Given the description of an element on the screen output the (x, y) to click on. 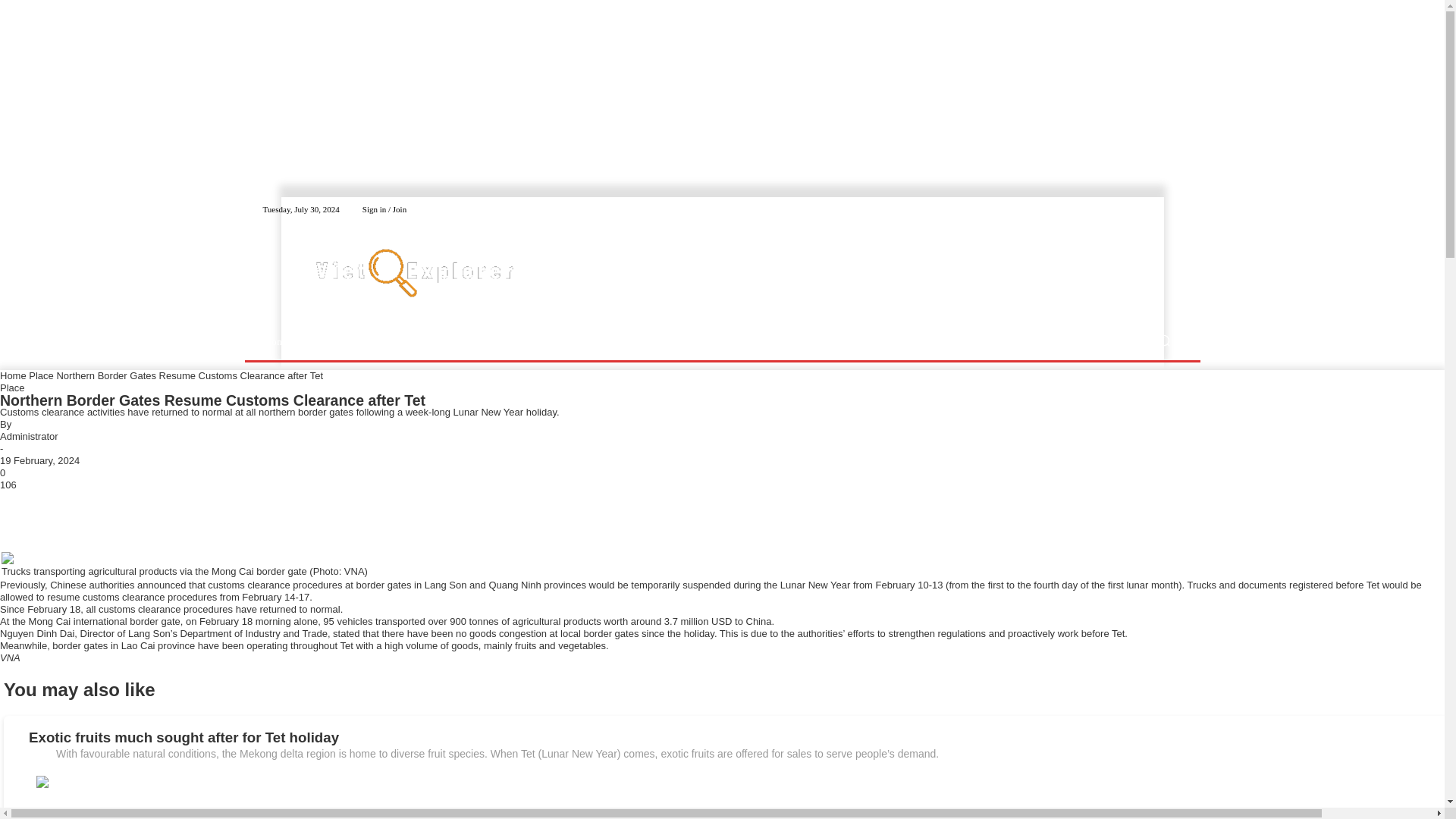
Twitter (1171, 208)
Home (276, 340)
Facebook (1153, 208)
Lifestyle (376, 340)
News (322, 340)
